Given the description of an element on the screen output the (x, y) to click on. 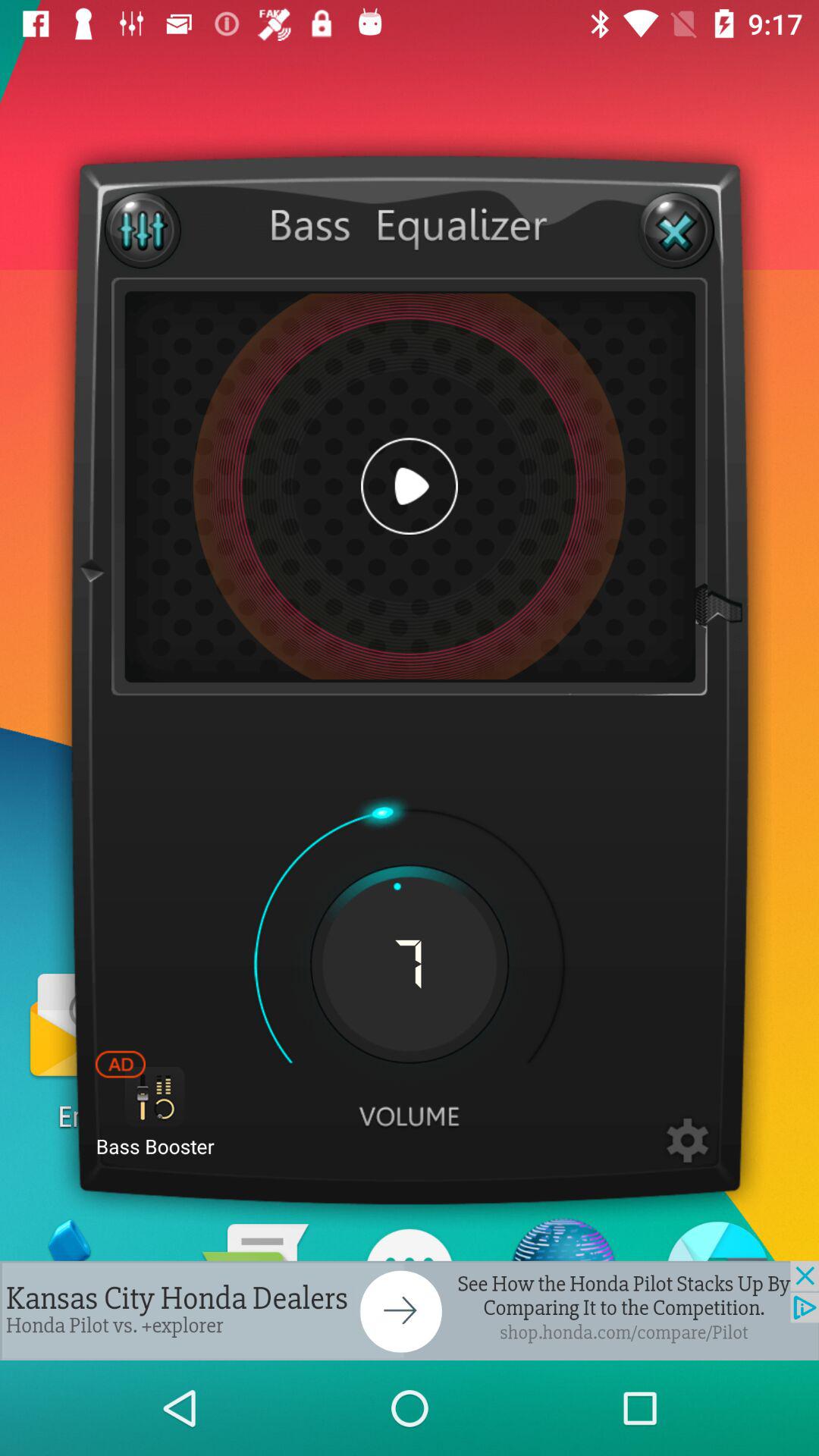
to use the additional option for bass and tribe button (142, 230)
